Given the description of an element on the screen output the (x, y) to click on. 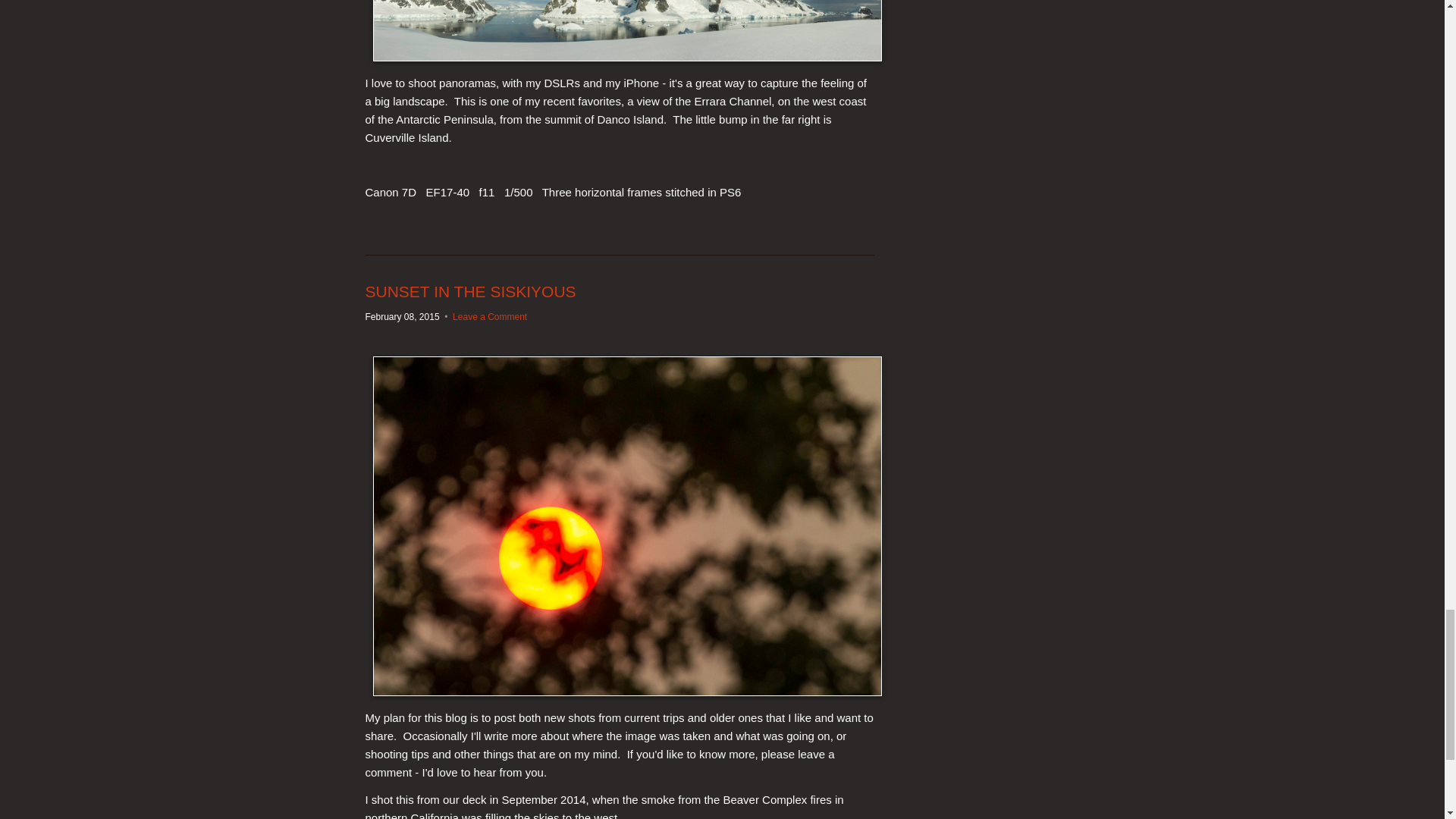
SUNSET IN THE SISKIYOUS (470, 291)
Leave a Comment (489, 317)
